Given the description of an element on the screen output the (x, y) to click on. 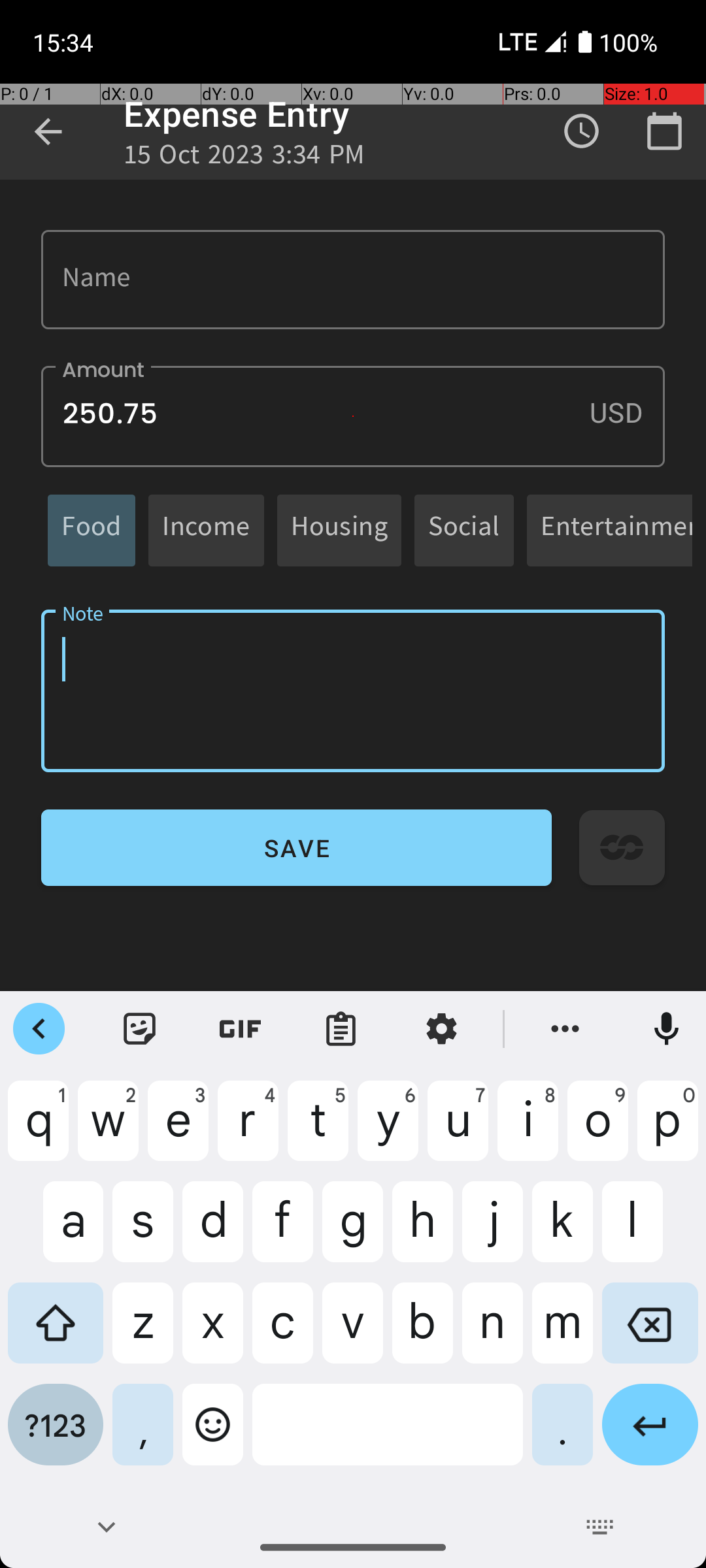
250.75 Element type: android.widget.EditText (352, 416)
